Given the description of an element on the screen output the (x, y) to click on. 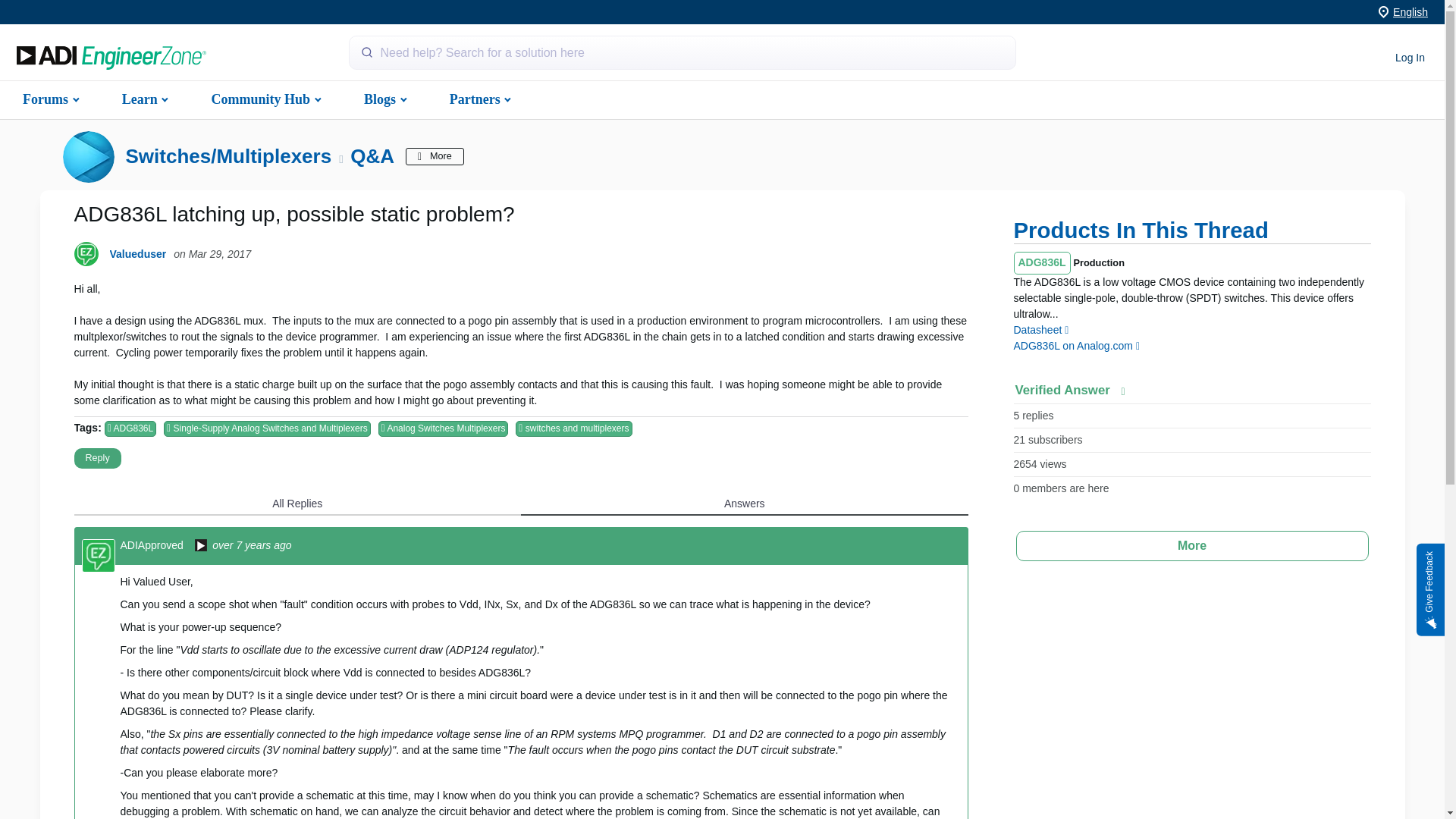
English (1410, 11)
Join or sign in (1409, 57)
Home (111, 57)
Forums (49, 98)
Analog Employees (200, 546)
Log In (1409, 57)
